Given the description of an element on the screen output the (x, y) to click on. 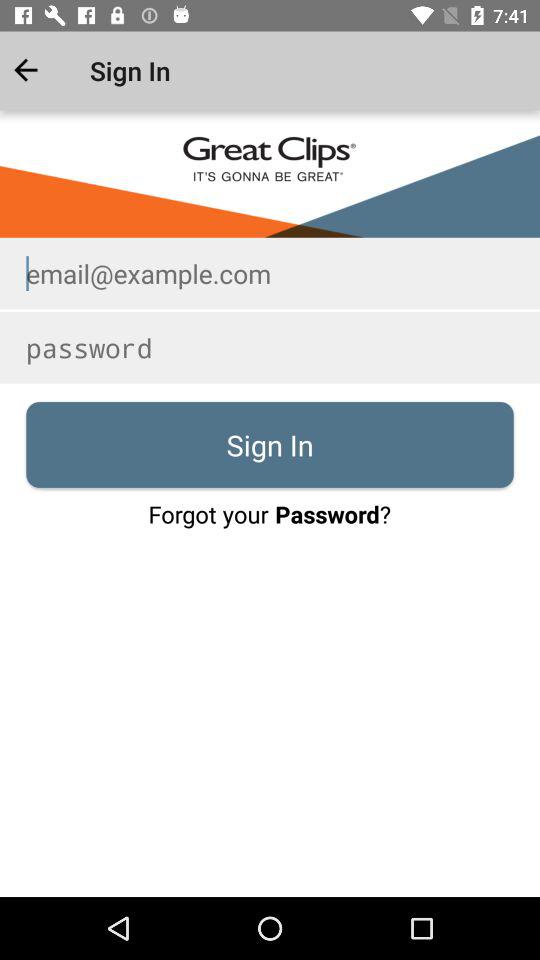
enter password (270, 347)
